Given the description of an element on the screen output the (x, y) to click on. 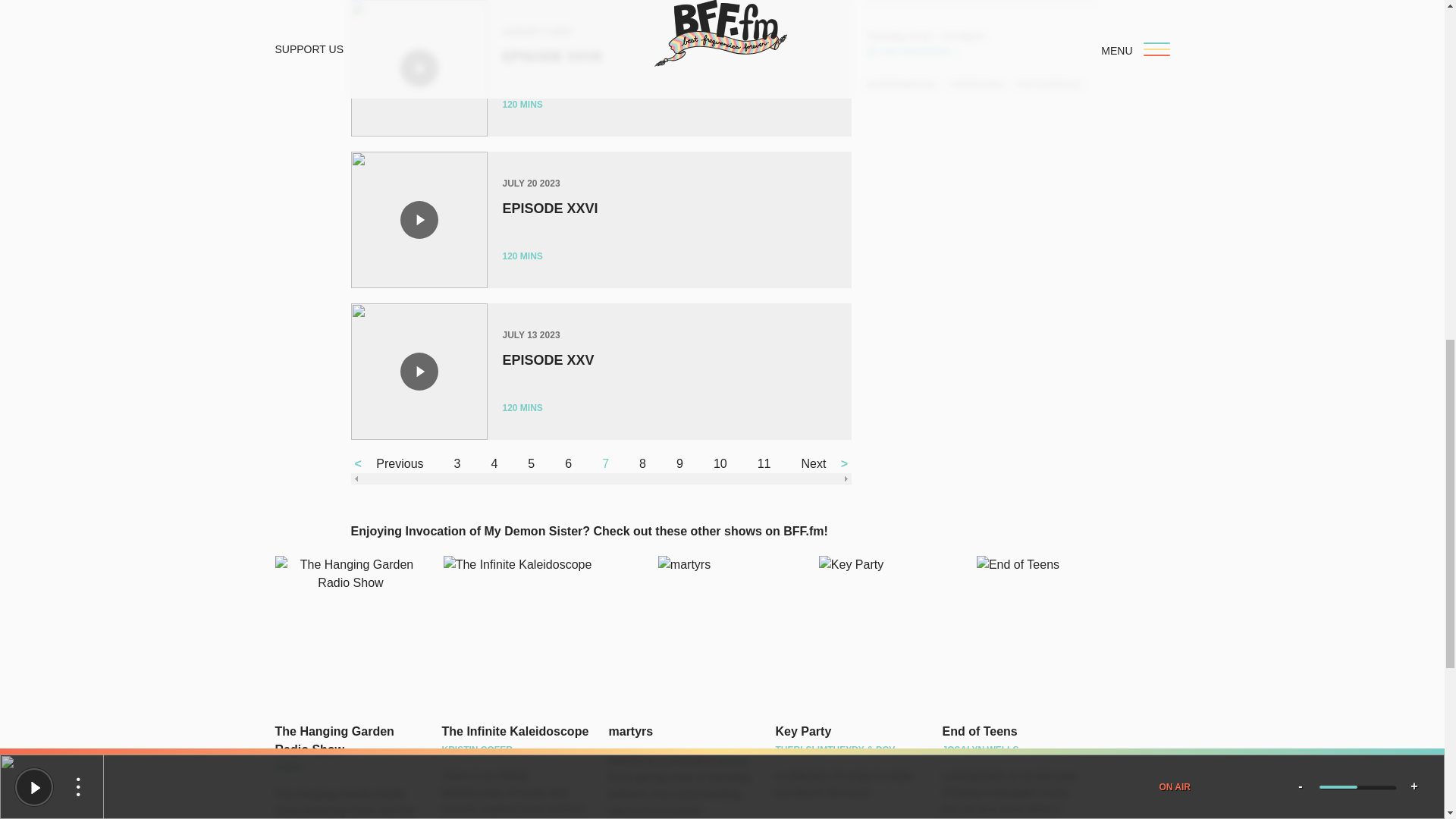
minutes (531, 255)
Donate to BFF.FM to help support the station (980, 2)
SUPPORT BFF.FM (980, 2)
minutes (531, 104)
PSYCHEDELIC (1049, 84)
FREEFORM (977, 84)
EXPERIMENTAL (901, 84)
